Given the description of an element on the screen output the (x, y) to click on. 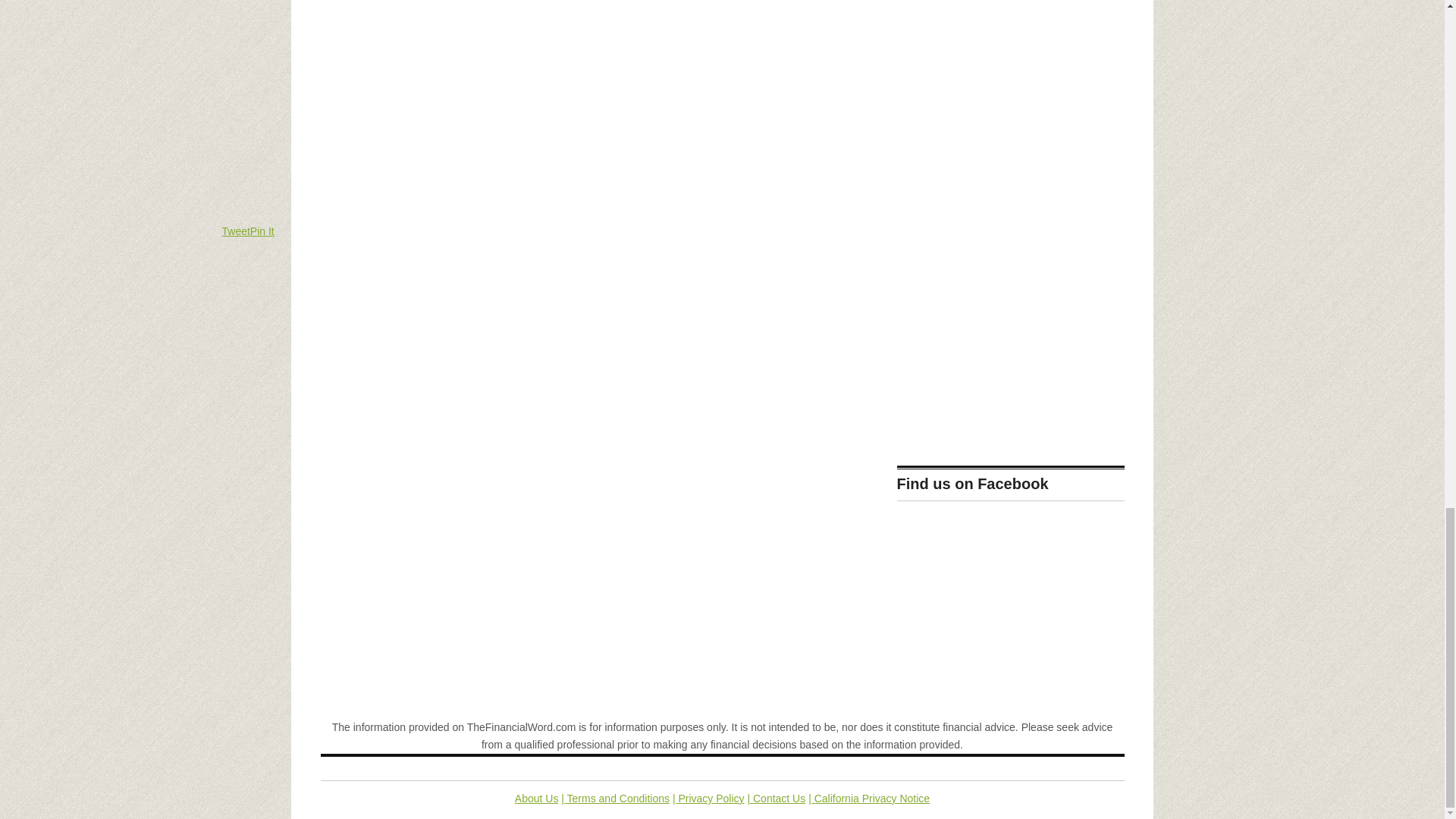
About Us (537, 798)
